Given the description of an element on the screen output the (x, y) to click on. 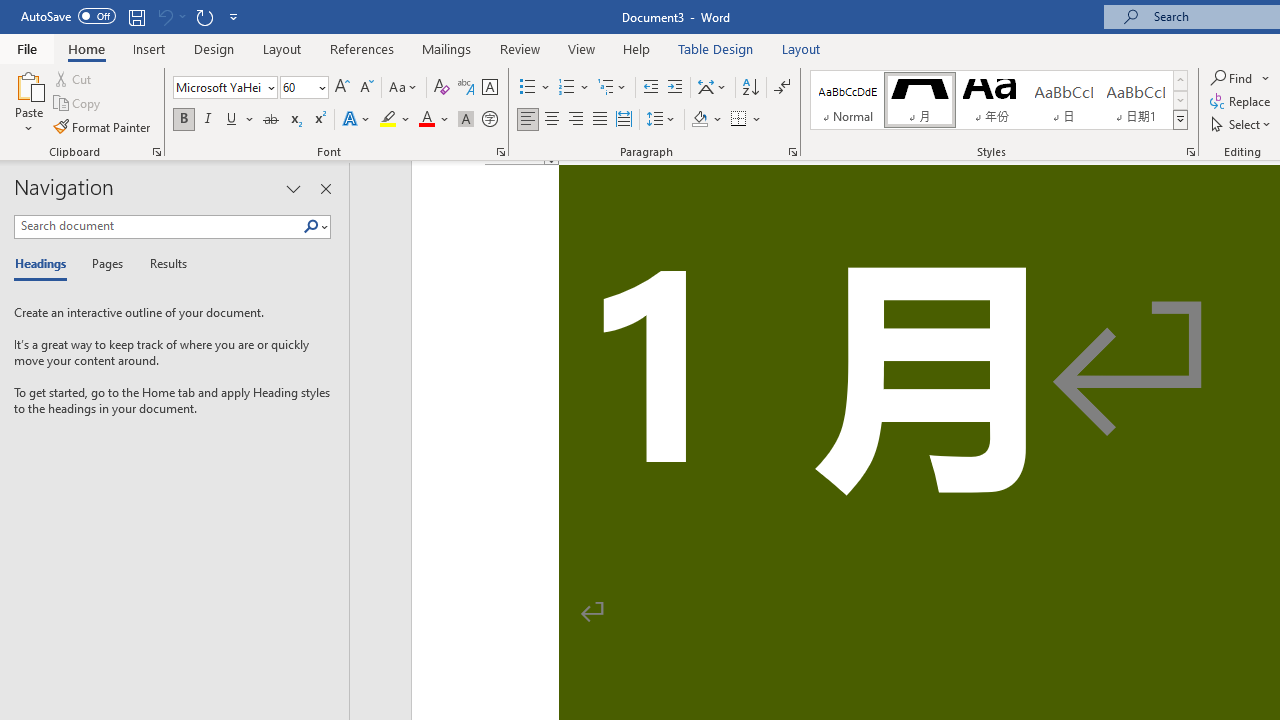
Repeat Doc Close (204, 15)
